Given the description of an element on the screen output the (x, y) to click on. 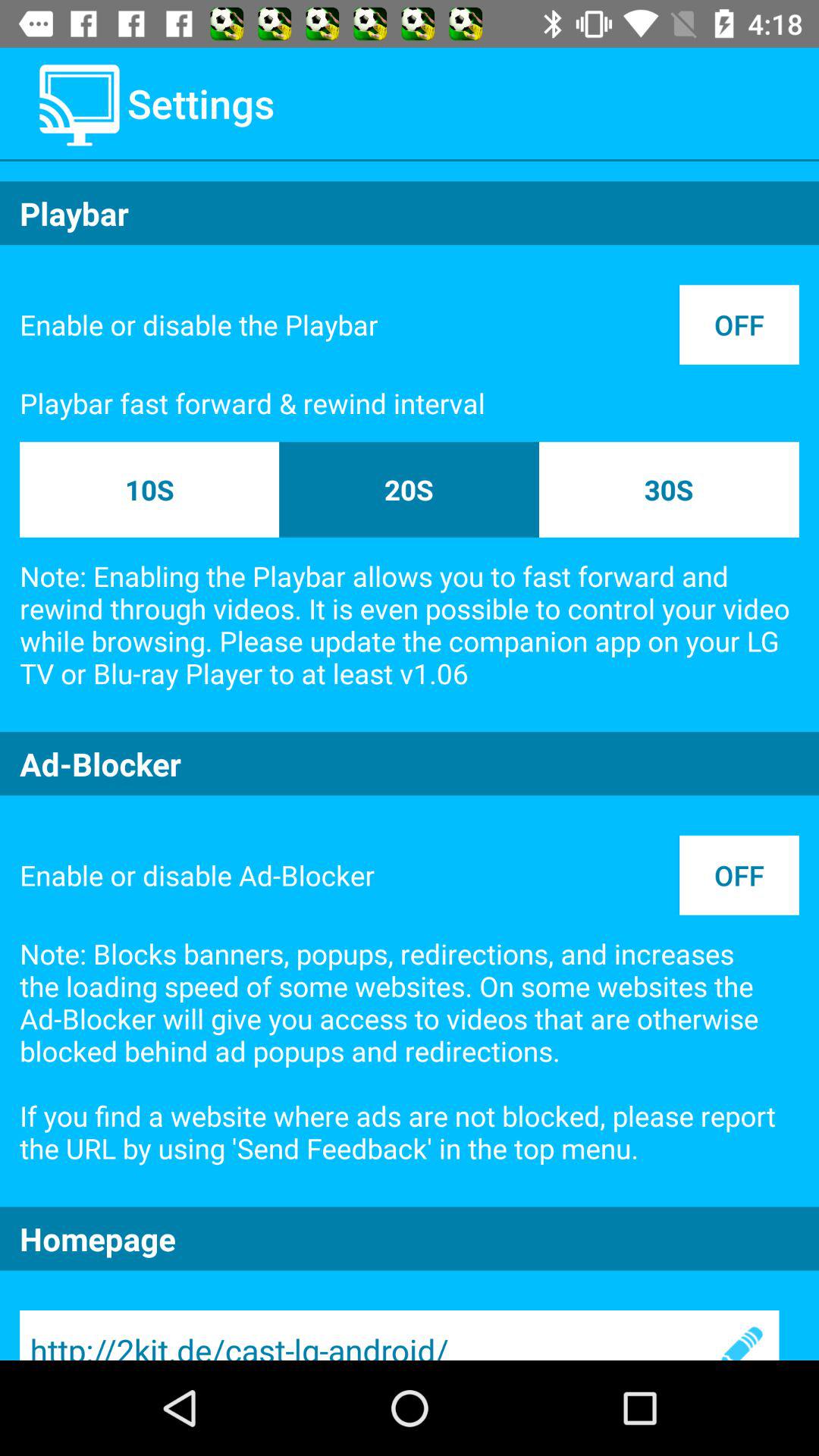
enable editing (739, 1335)
